Given the description of an element on the screen output the (x, y) to click on. 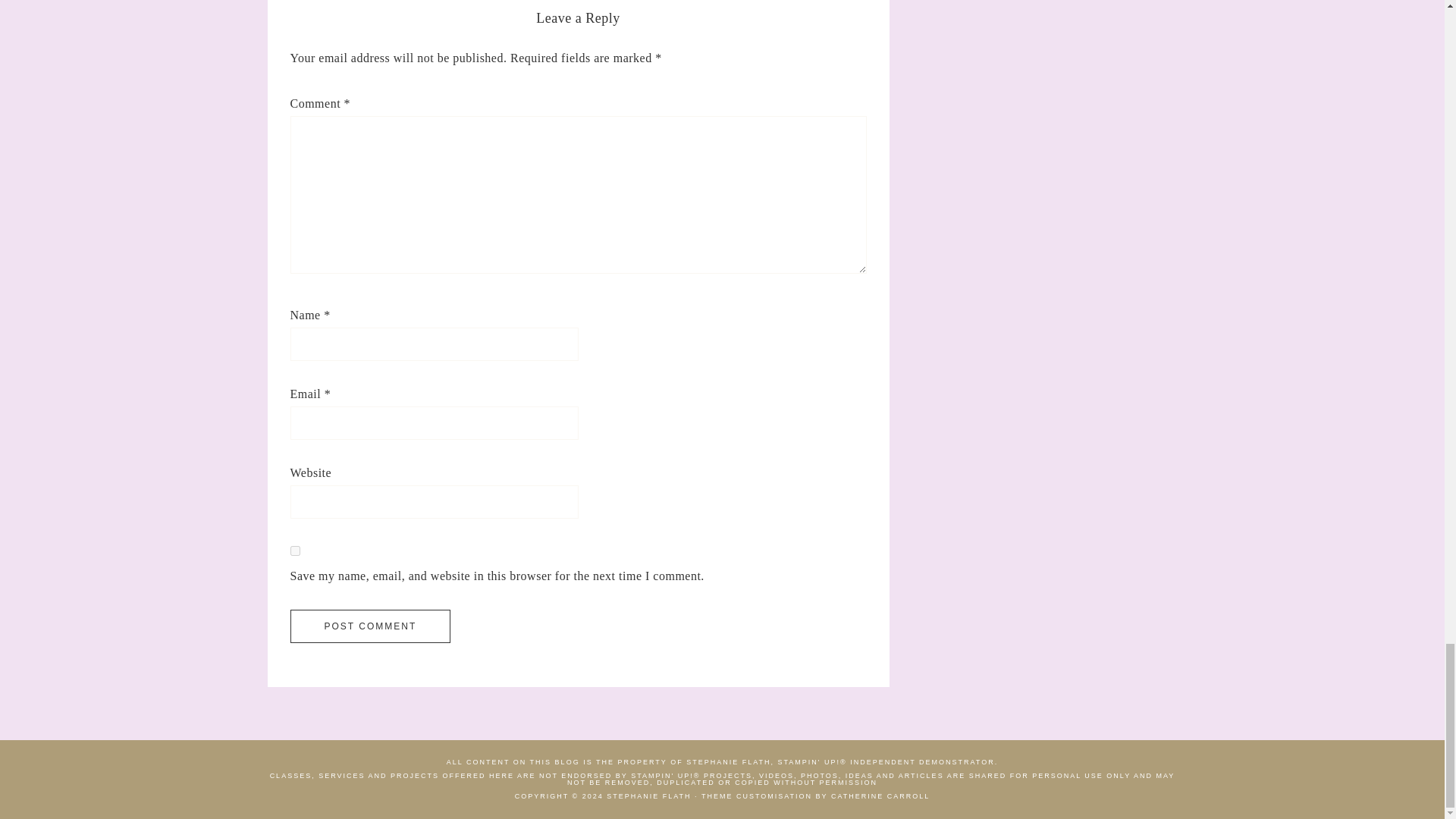
yes (294, 551)
Post Comment (369, 625)
Post Comment (369, 625)
